Given the description of an element on the screen output the (x, y) to click on. 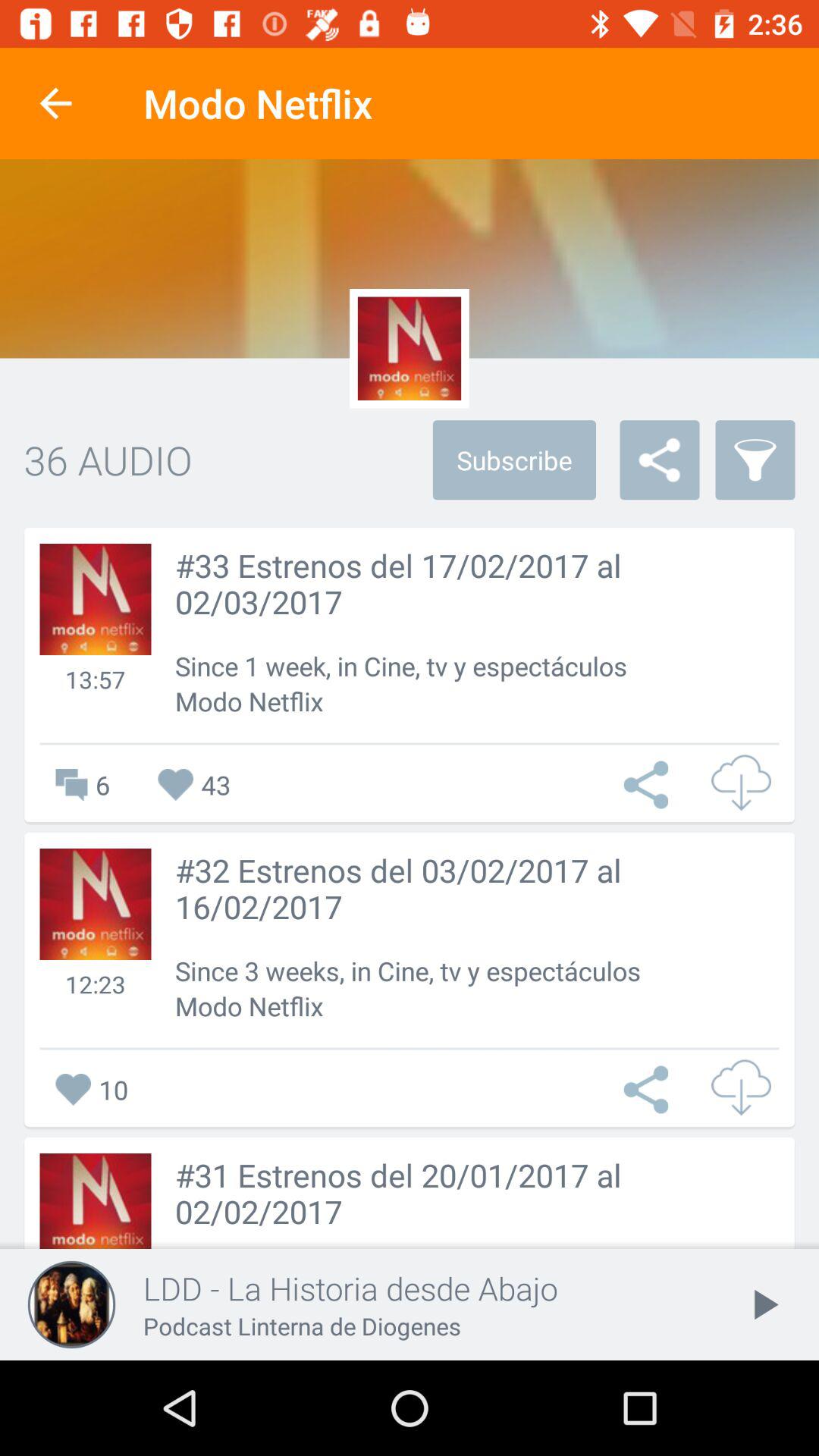
open the subscribe item (514, 459)
